Given the description of an element on the screen output the (x, y) to click on. 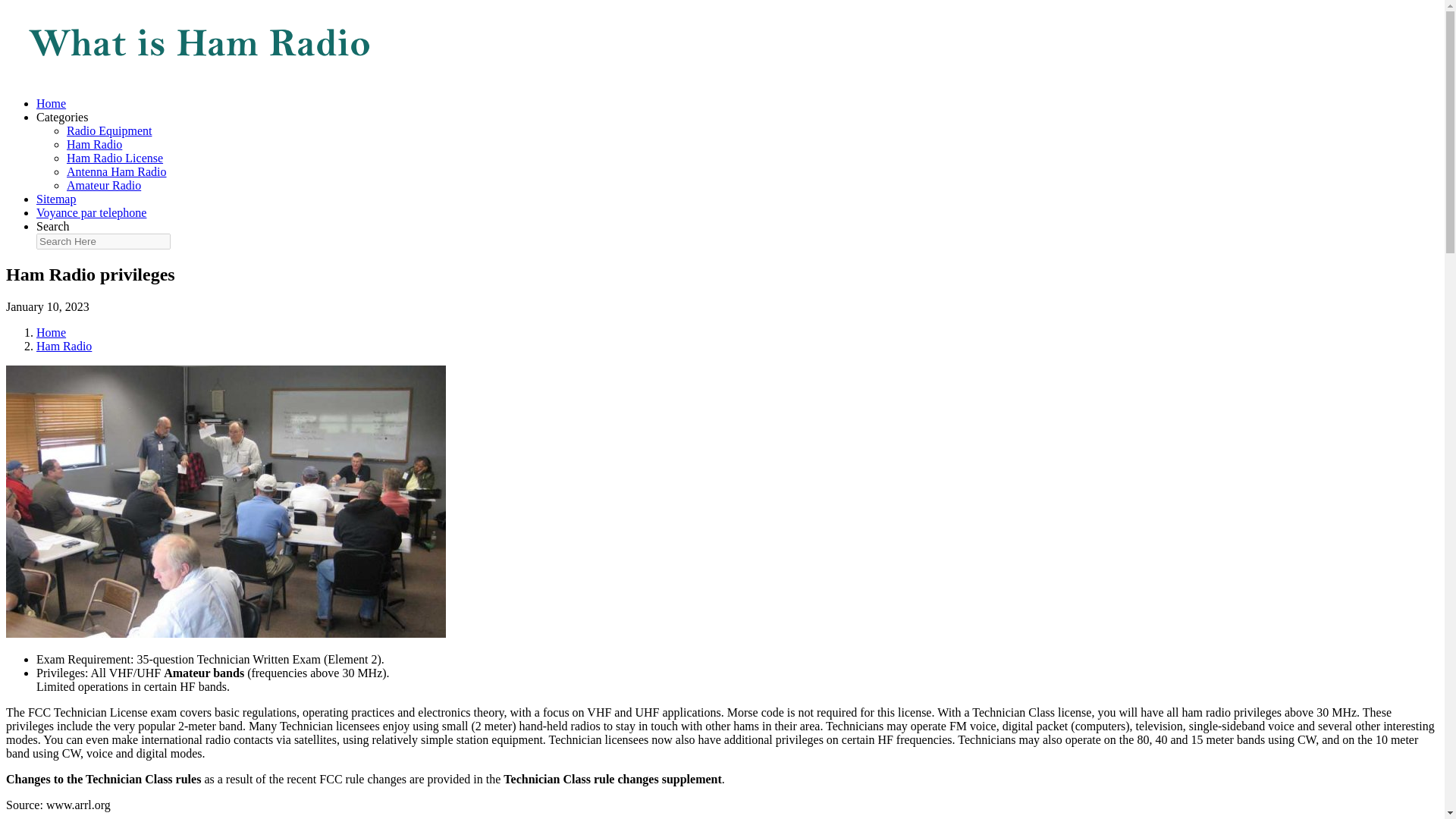
Ham Radio (94, 144)
Search (52, 226)
Categories (61, 116)
Home (50, 103)
Ham Radio License (114, 157)
Home (50, 332)
Radio Equipment (108, 130)
Antenna Ham Radio (116, 171)
Voyance par telephone (91, 212)
Ham Radio (63, 345)
